Given the description of an element on the screen output the (x, y) to click on. 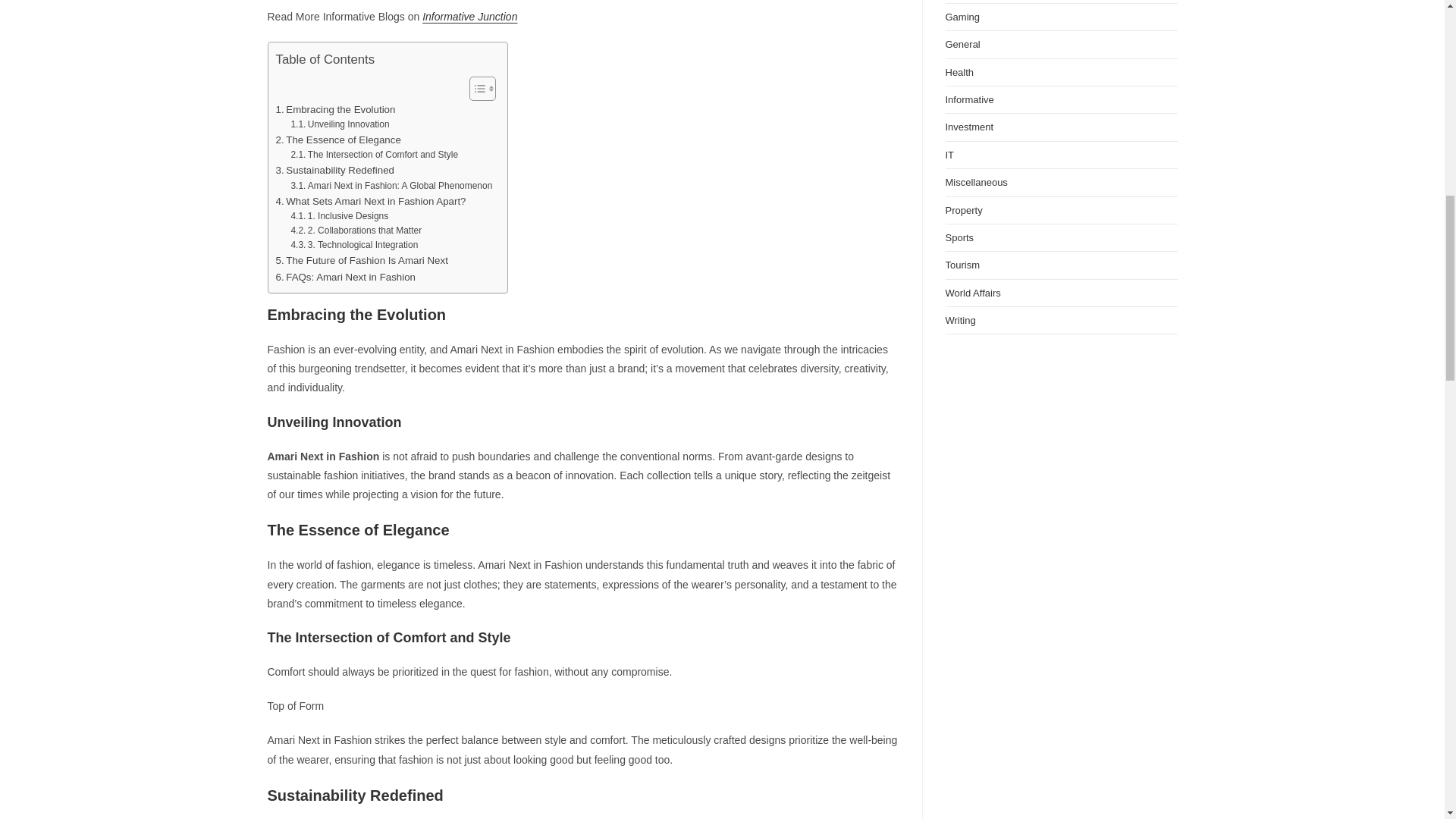
Unveiling Innovation (338, 124)
Sustainability Redefined (335, 170)
3. Technological Integration (353, 245)
Amari Next in Fashion: A Global Phenomenon (390, 186)
What Sets Amari Next in Fashion Apart? (370, 201)
Embracing the Evolution (336, 109)
The Essence of Elegance (338, 139)
2. Collaborations that Matter (355, 230)
The Future of Fashion Is Amari Next (362, 260)
FAQs: Amari Next in Fashion (345, 277)
The Intersection of Comfort and Style (373, 155)
1. Inclusive Designs (338, 216)
